Given the description of an element on the screen output the (x, y) to click on. 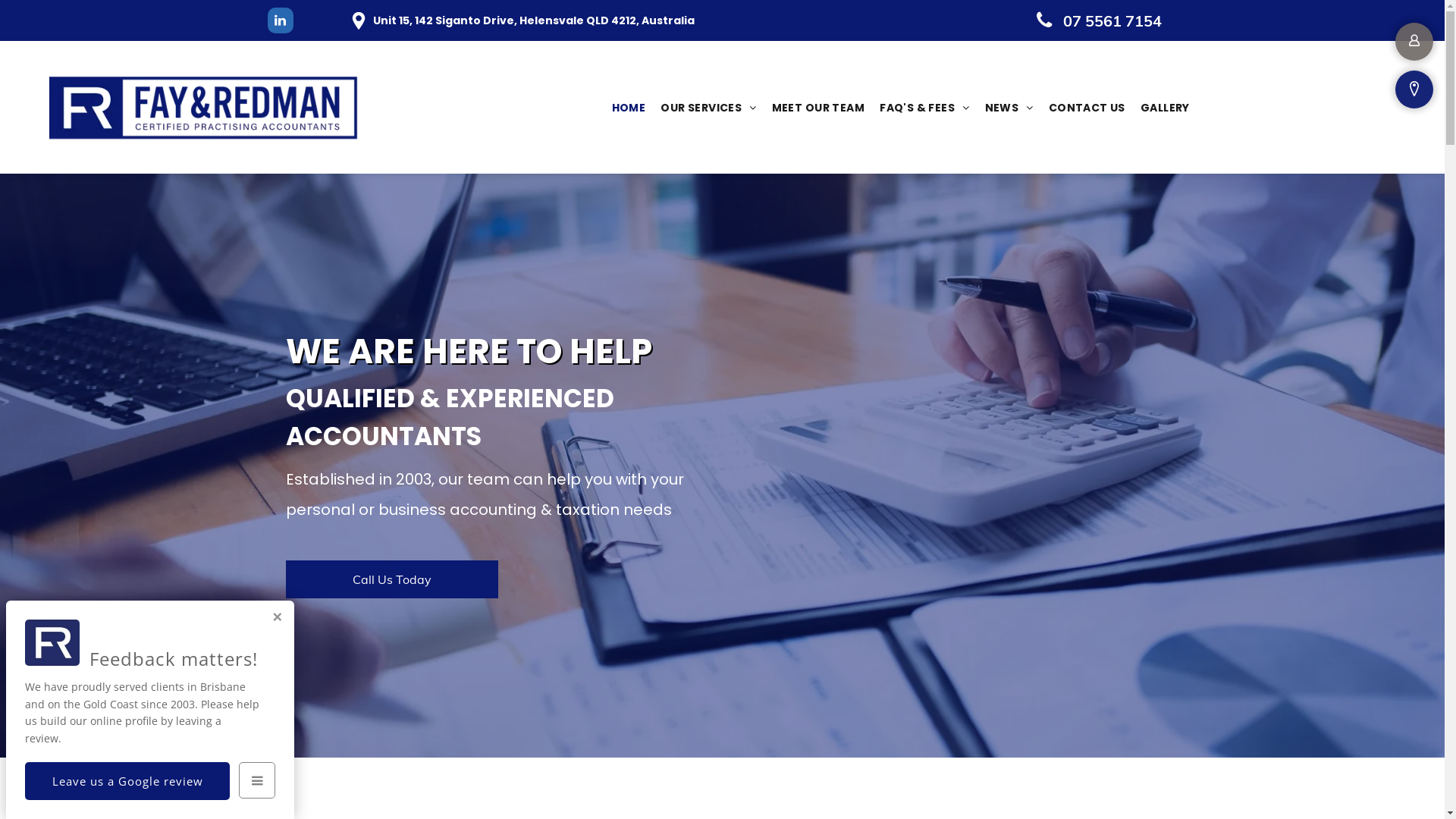
CONTACT US Element type: text (1086, 107)
Call Us Today Element type: text (391, 579)
07 5561 7154 Element type: text (1100, 20)
HOME Element type: text (627, 107)
FAQ'S & FEES Element type: text (924, 107)
Fay & Redman Element type: hover (207, 107)
MEET OUR TEAM Element type: text (818, 107)
Unit 15, 142 Siganto Drive, Helensvale QLD 4212, Australia Element type: text (533, 19)
Leave us a Google review Element type: text (127, 781)
OUR SERVICES Element type: text (707, 107)
GALLERY Element type: text (1164, 107)
NEWS Element type: text (1009, 107)
